Given the description of an element on the screen output the (x, y) to click on. 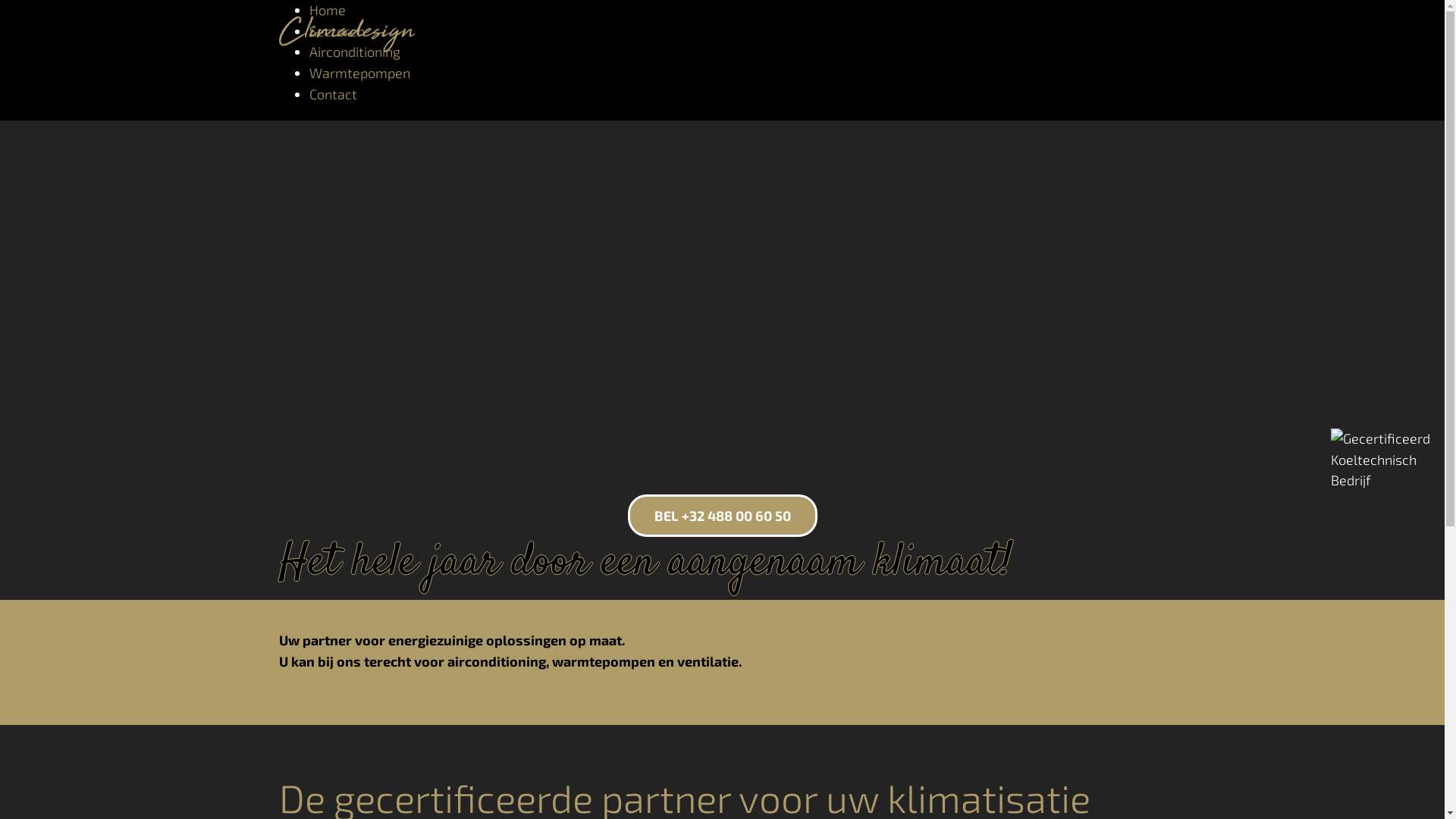
Sectoren Element type: text (336, 30)
BEL +32 488 00 60 50 Element type: text (722, 515)
Warmtepompen Element type: text (359, 72)
Airconditioning Element type: text (354, 51)
Home Element type: text (327, 9)
Lees meer Element type: text (113, 30)
Contact Element type: text (333, 93)
Ok, begrepen! Element type: text (42, 51)
